Given the description of an element on the screen output the (x, y) to click on. 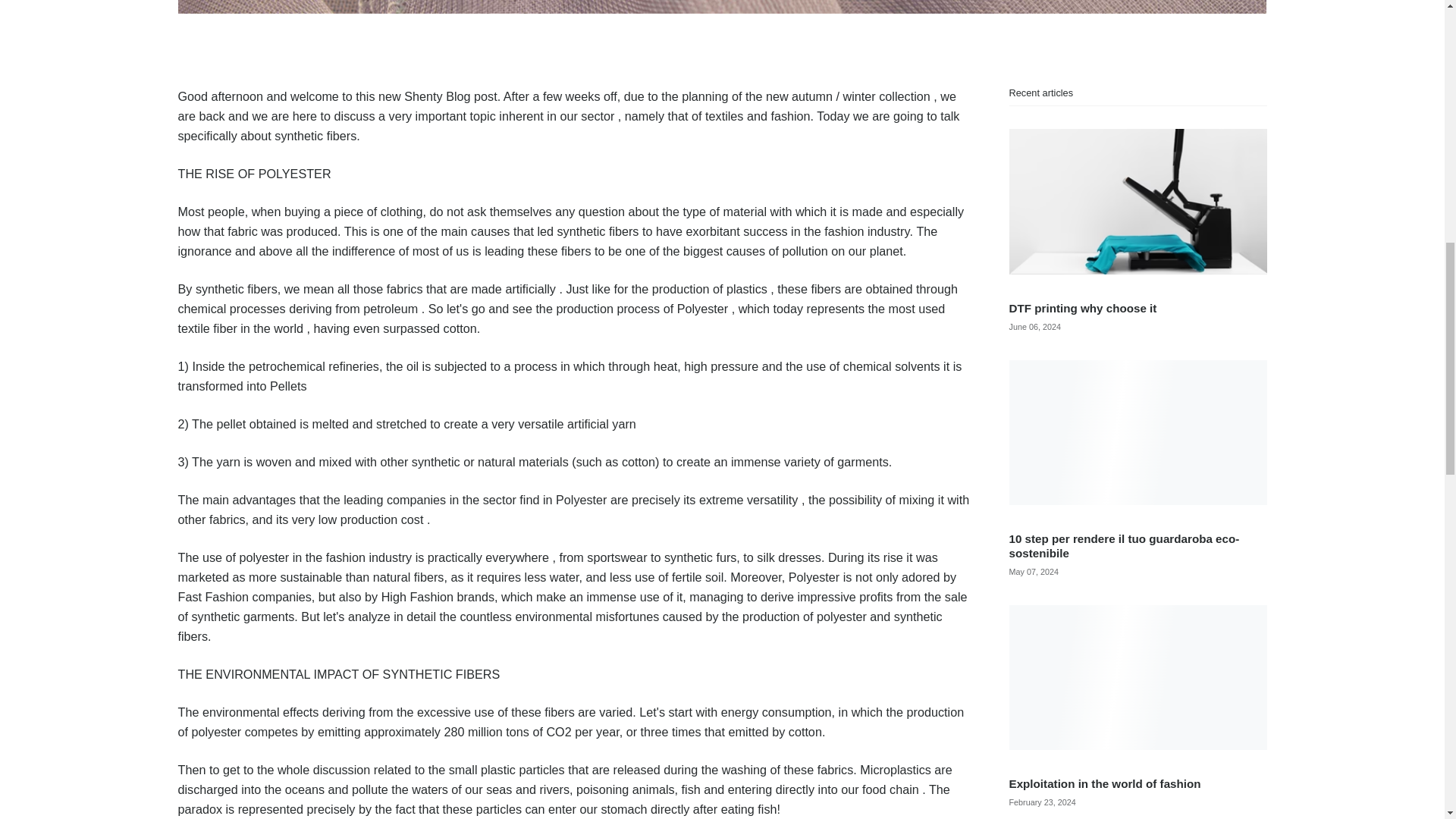
Exploitation in the world of fashion (1104, 783)
10 step per rendere il tuo guardaroba eco-sostenibile (1124, 545)
DTF printing why choose it (1082, 308)
